Given the description of an element on the screen output the (x, y) to click on. 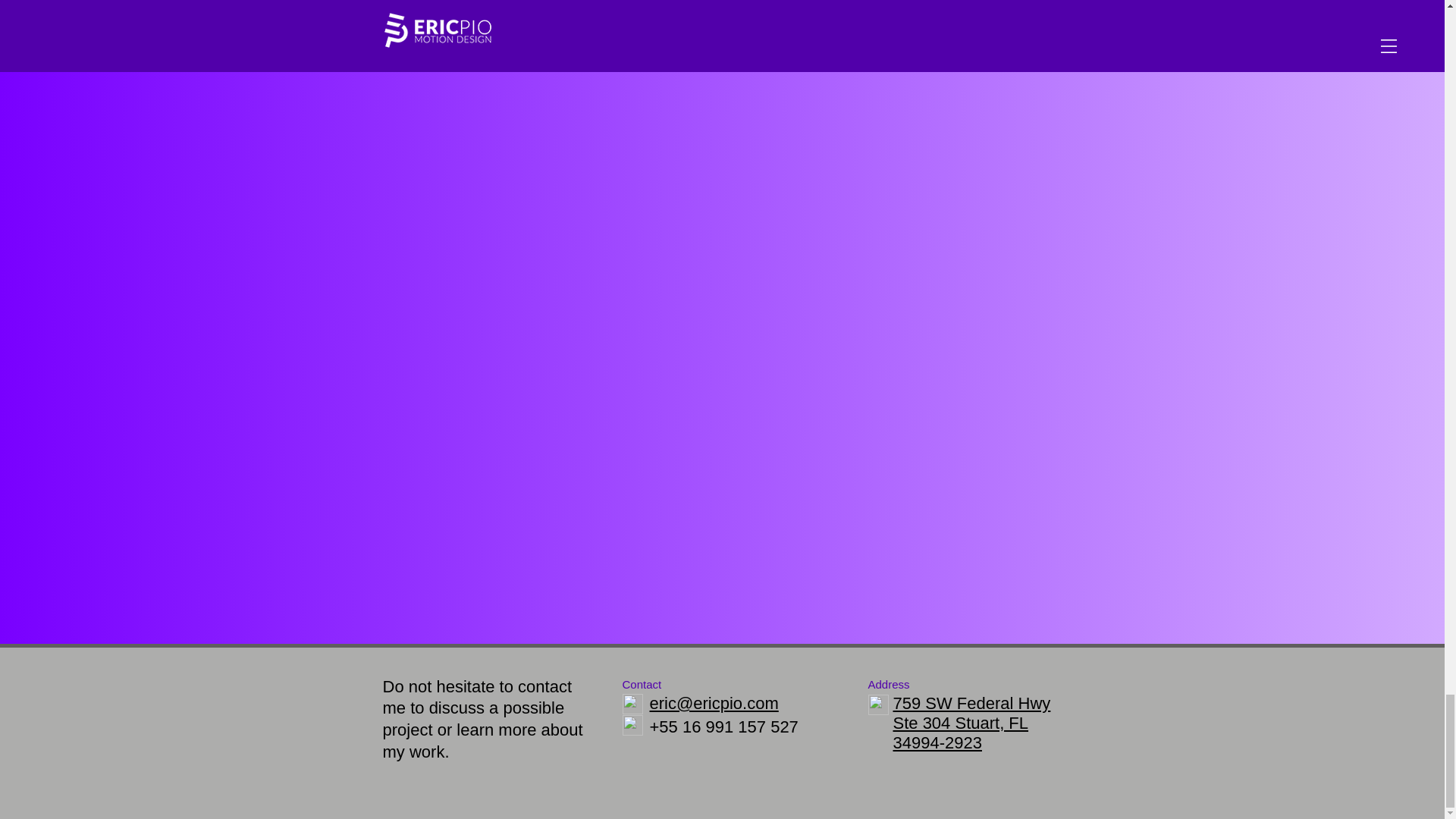
telefone.png (631, 724)
o-email.png (631, 703)
759 SW Federal Hwy Ste 304 Stuart, FL 34994-2923 (972, 722)
localizacao.png (877, 704)
